Given the description of an element on the screen output the (x, y) to click on. 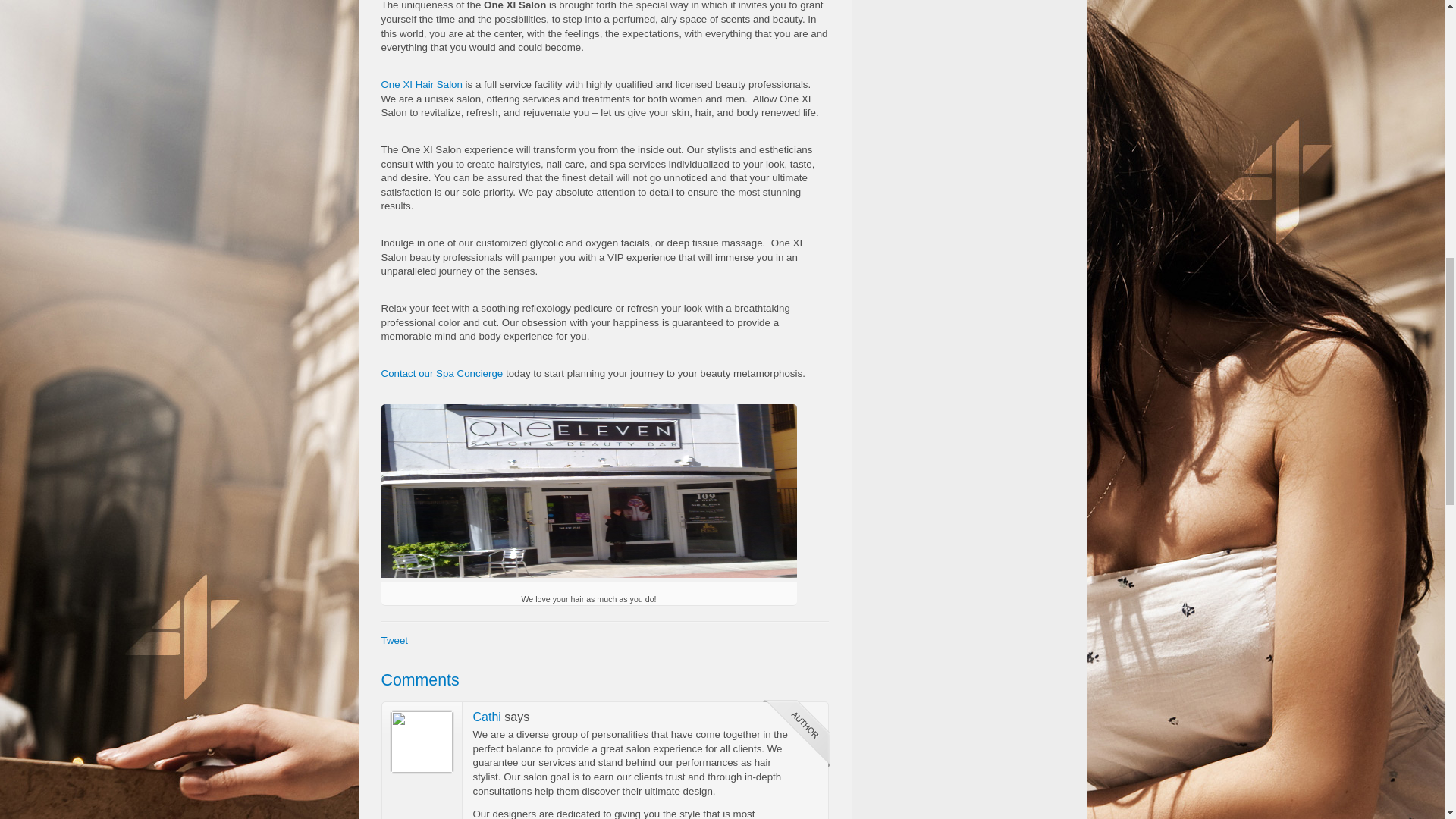
Cathi (588, 491)
Contact our Spa Concierge (441, 373)
Contact Us (441, 373)
Tweet (393, 640)
One XI Hair Salon (420, 84)
